Given the description of an element on the screen output the (x, y) to click on. 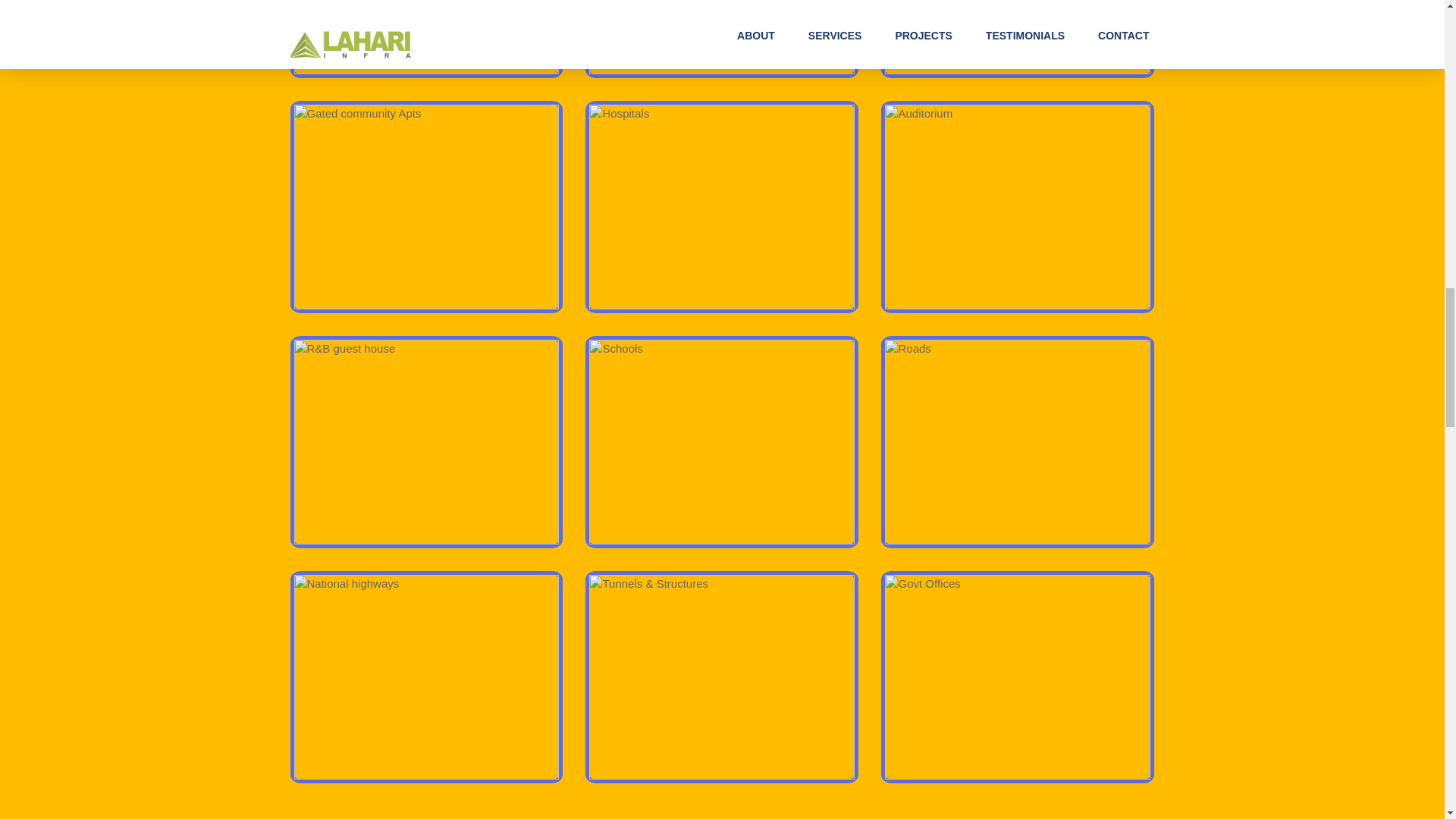
Roads (1017, 441)
Residential apartments  (721, 37)
Schools (721, 441)
2 BHK house  (426, 37)
National highways  (426, 676)
Auditorium (1017, 206)
Hospitals (721, 206)
High range buildings (1017, 37)
Gated community Apts (426, 206)
Govt Offices (1017, 676)
